Given the description of an element on the screen output the (x, y) to click on. 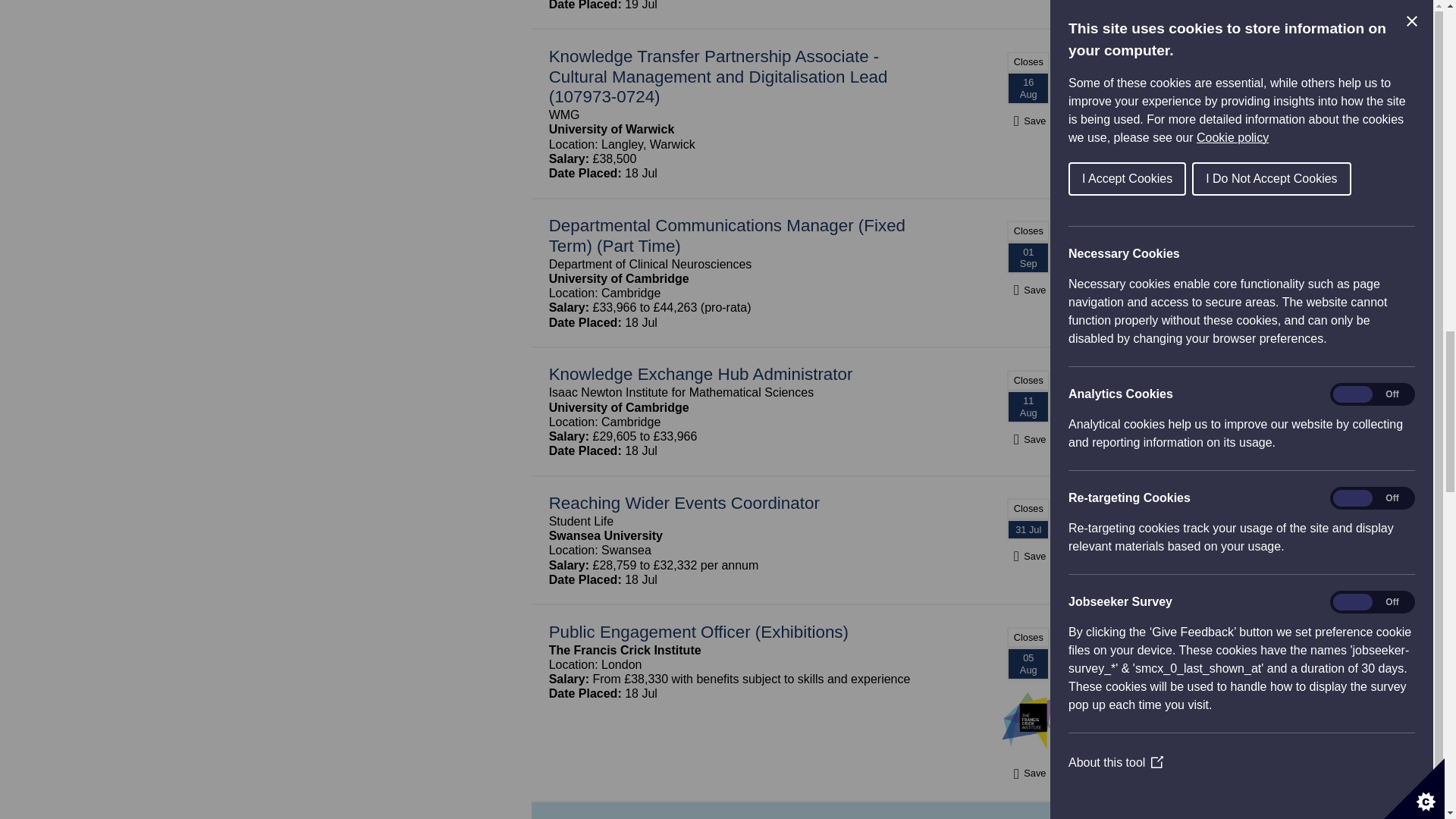
Save job (1027, 772)
Save job (1027, 555)
Save job (1027, 289)
Save job (1027, 120)
Save job (1027, 439)
